Given the description of an element on the screen output the (x, y) to click on. 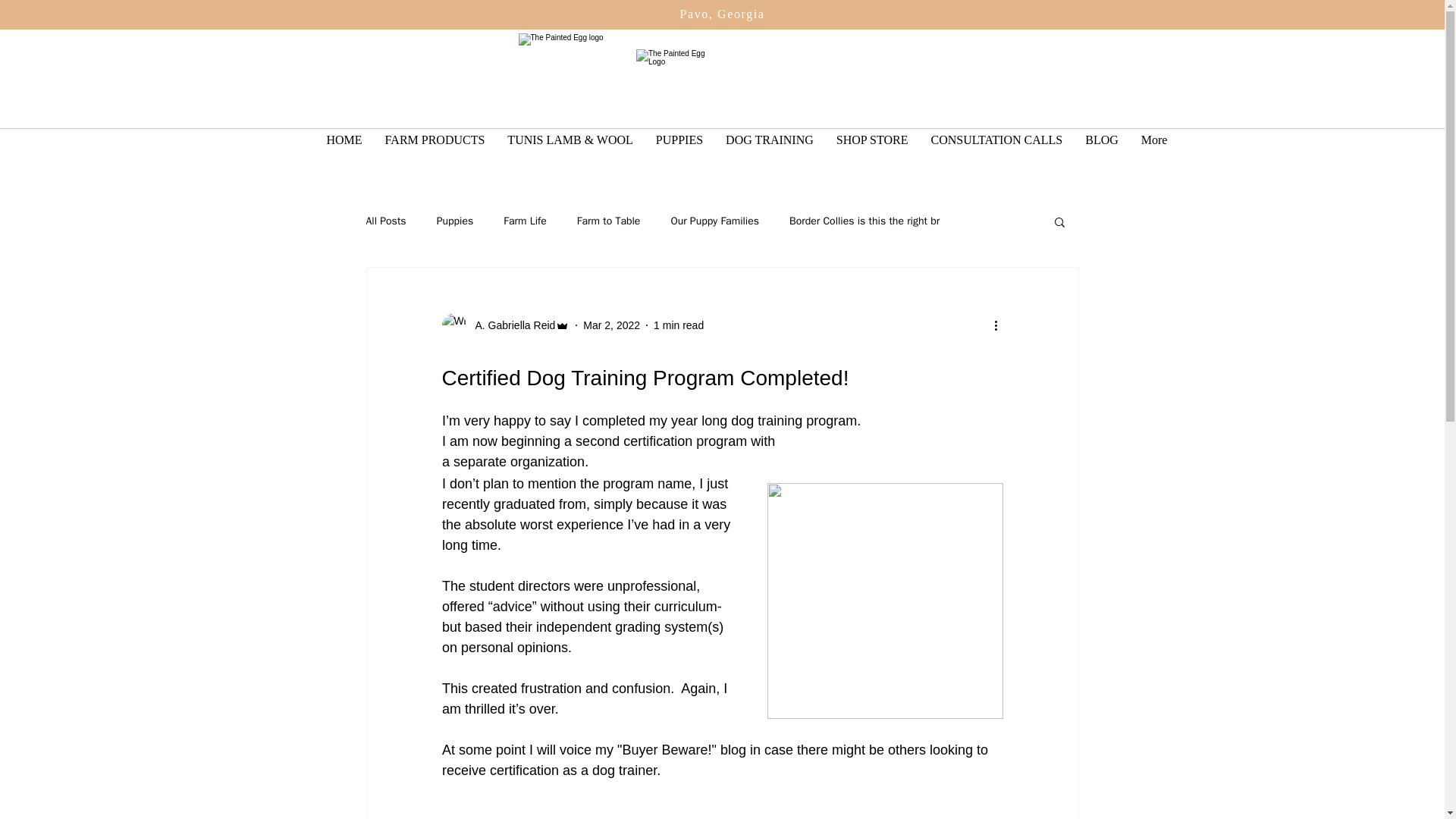
DOG TRAINING (769, 148)
A. Gabriella Reid (505, 324)
HOME (344, 148)
FARM PRODUCTS (435, 148)
All Posts (385, 221)
PUPPIES (679, 148)
Puppies (455, 221)
Farm to Table (608, 221)
CONSULTATION CALLS (996, 148)
Our Puppy Families (713, 221)
Mar 2, 2022 (611, 324)
1 min read (678, 324)
Pavo, Georgia (721, 13)
A. Gabriella Reid (509, 324)
BLOG (1101, 148)
